Given the description of an element on the screen output the (x, y) to click on. 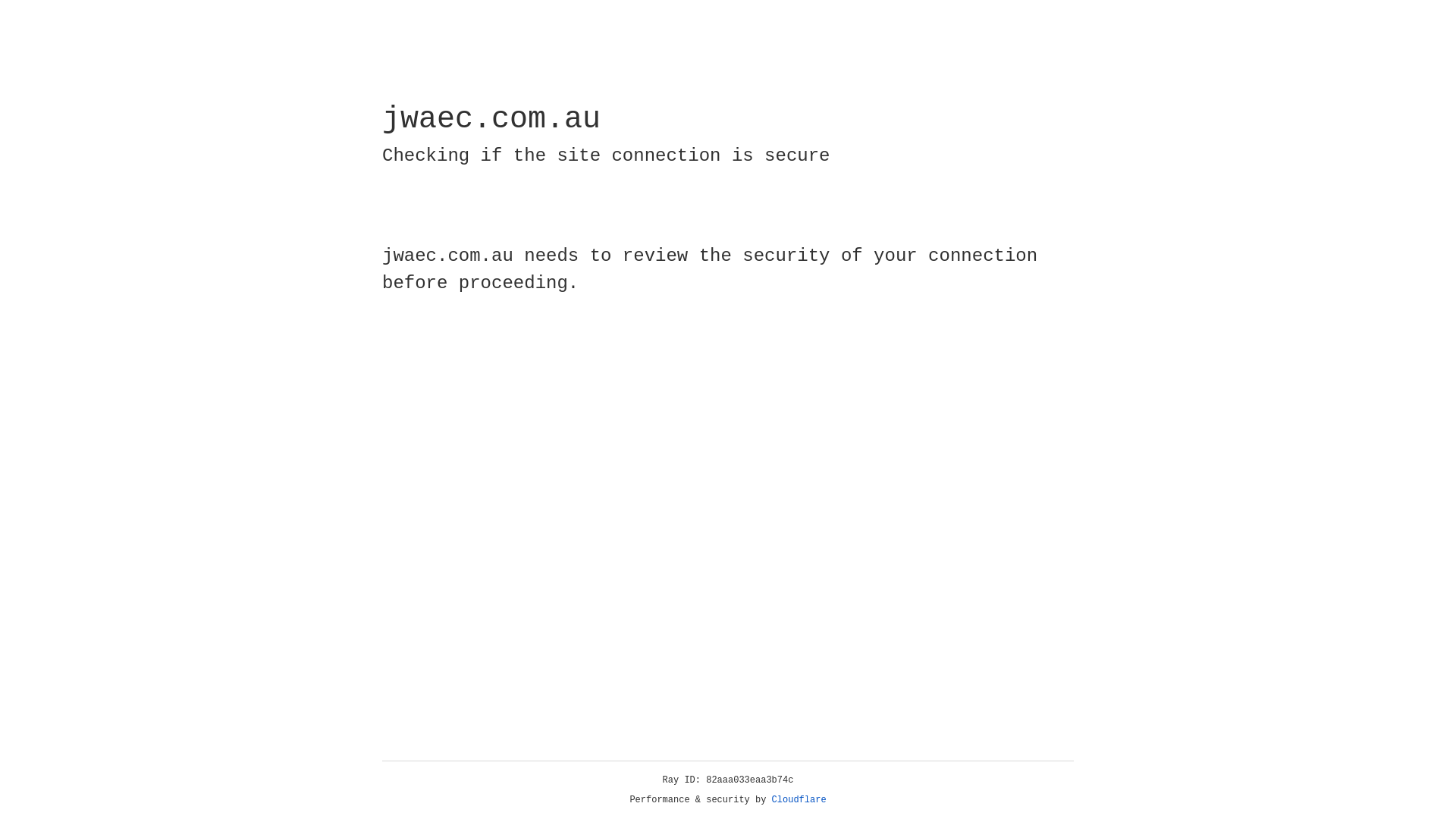
Cloudflare Element type: text (798, 799)
